Given the description of an element on the screen output the (x, y) to click on. 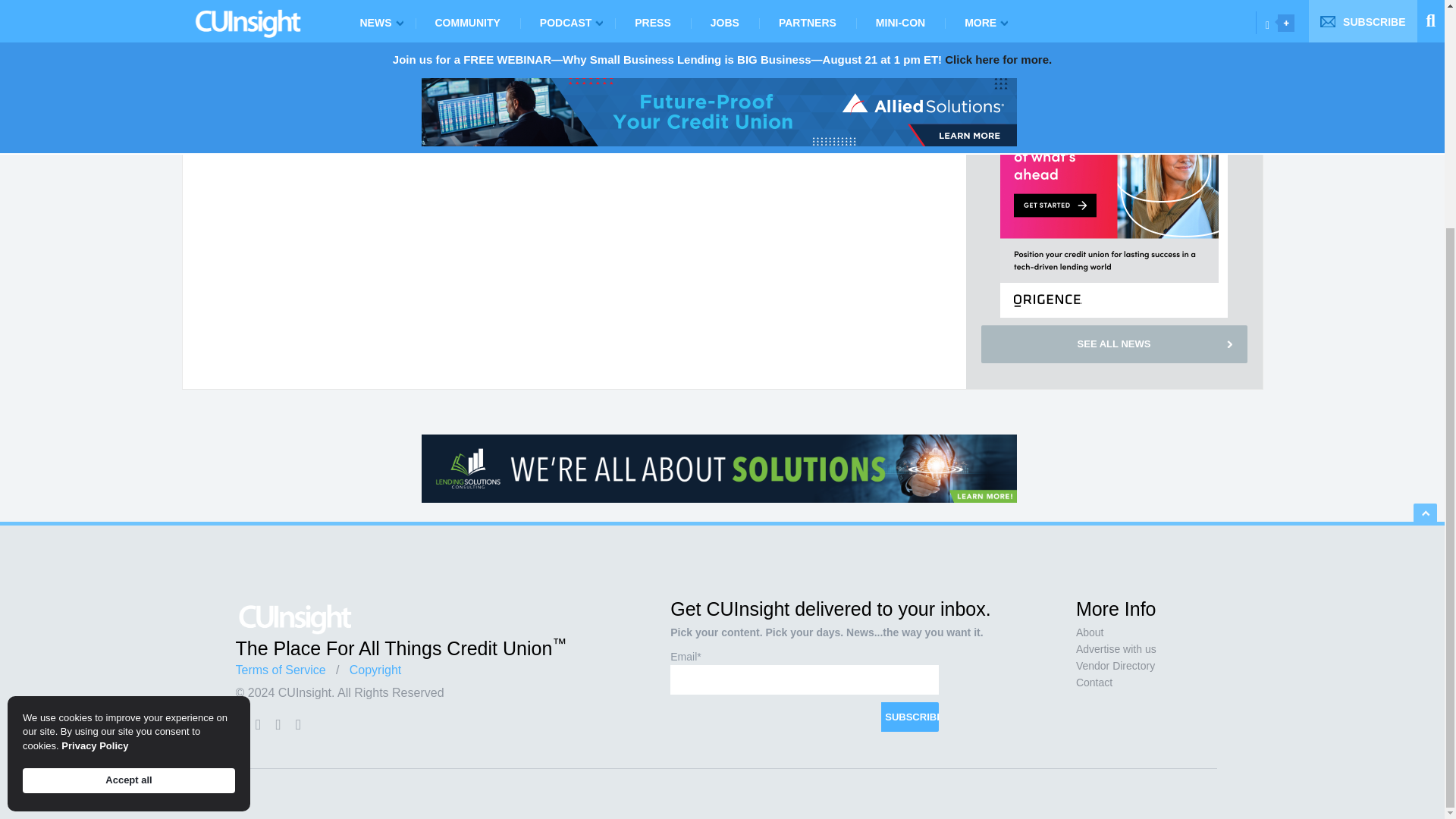
home page (277, 22)
Subscribe (909, 716)
CHRISTIE SMITH (1117, 14)
